Given the description of an element on the screen output the (x, y) to click on. 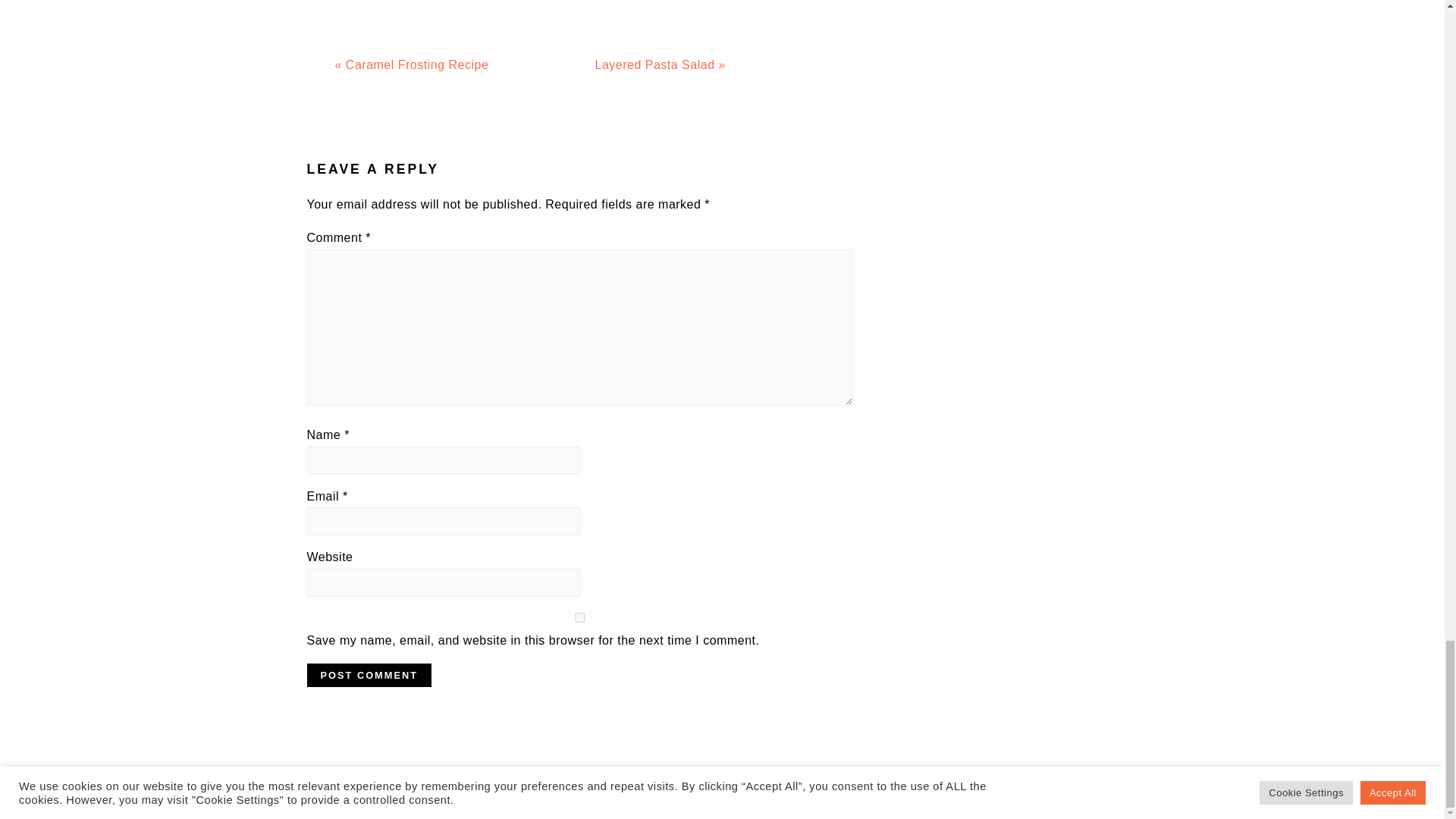
Post Comment (367, 675)
Post Comment (367, 675)
yes (578, 617)
